Given the description of an element on the screen output the (x, y) to click on. 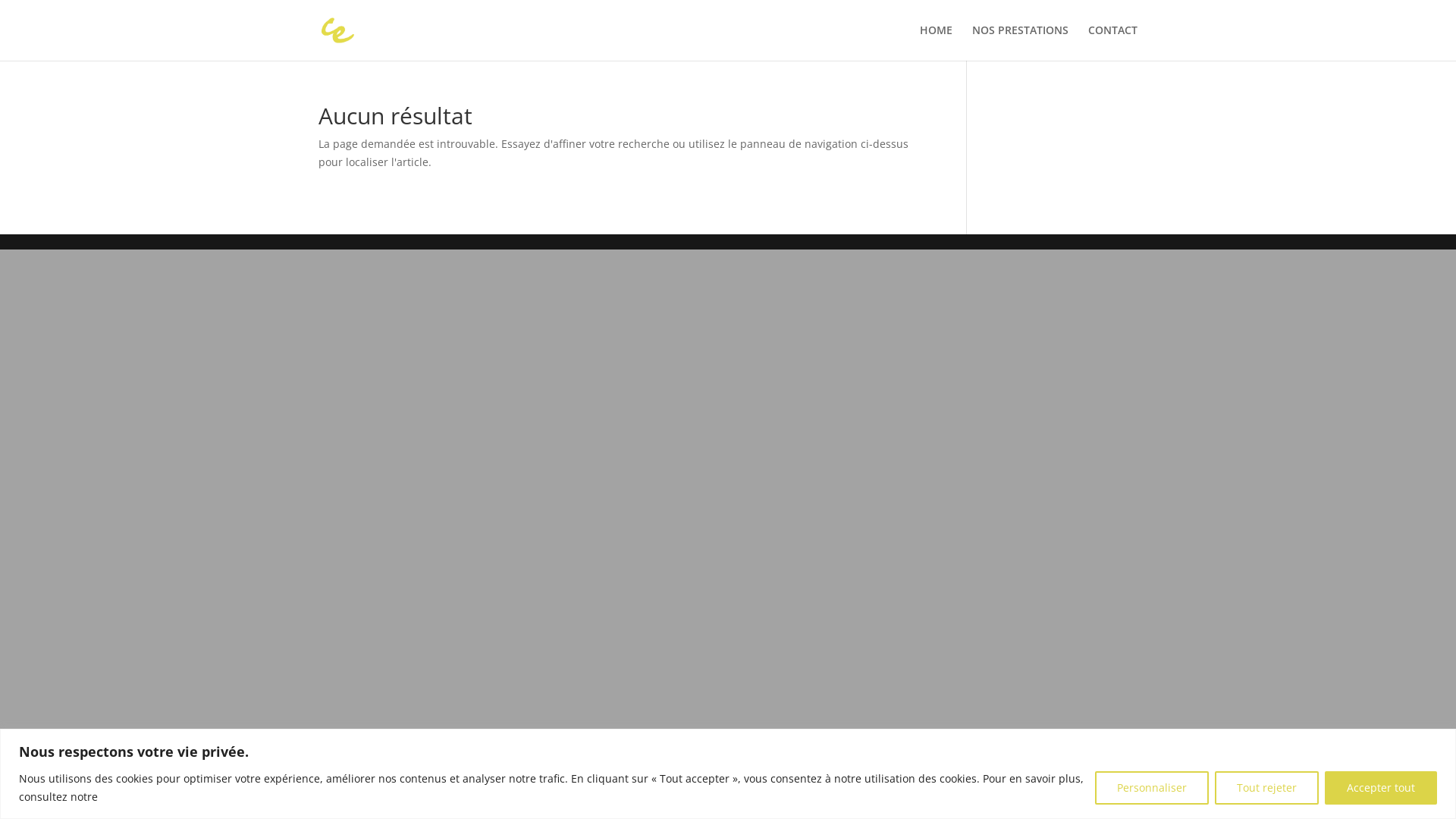
NOS PRESTATIONS Element type: text (1020, 42)
Personnaliser Element type: text (1151, 786)
Accepter tout Element type: text (1380, 786)
CONTACT Element type: text (1112, 42)
Tout rejeter Element type: text (1266, 786)
HOME Element type: text (935, 42)
